Given the description of an element on the screen output the (x, y) to click on. 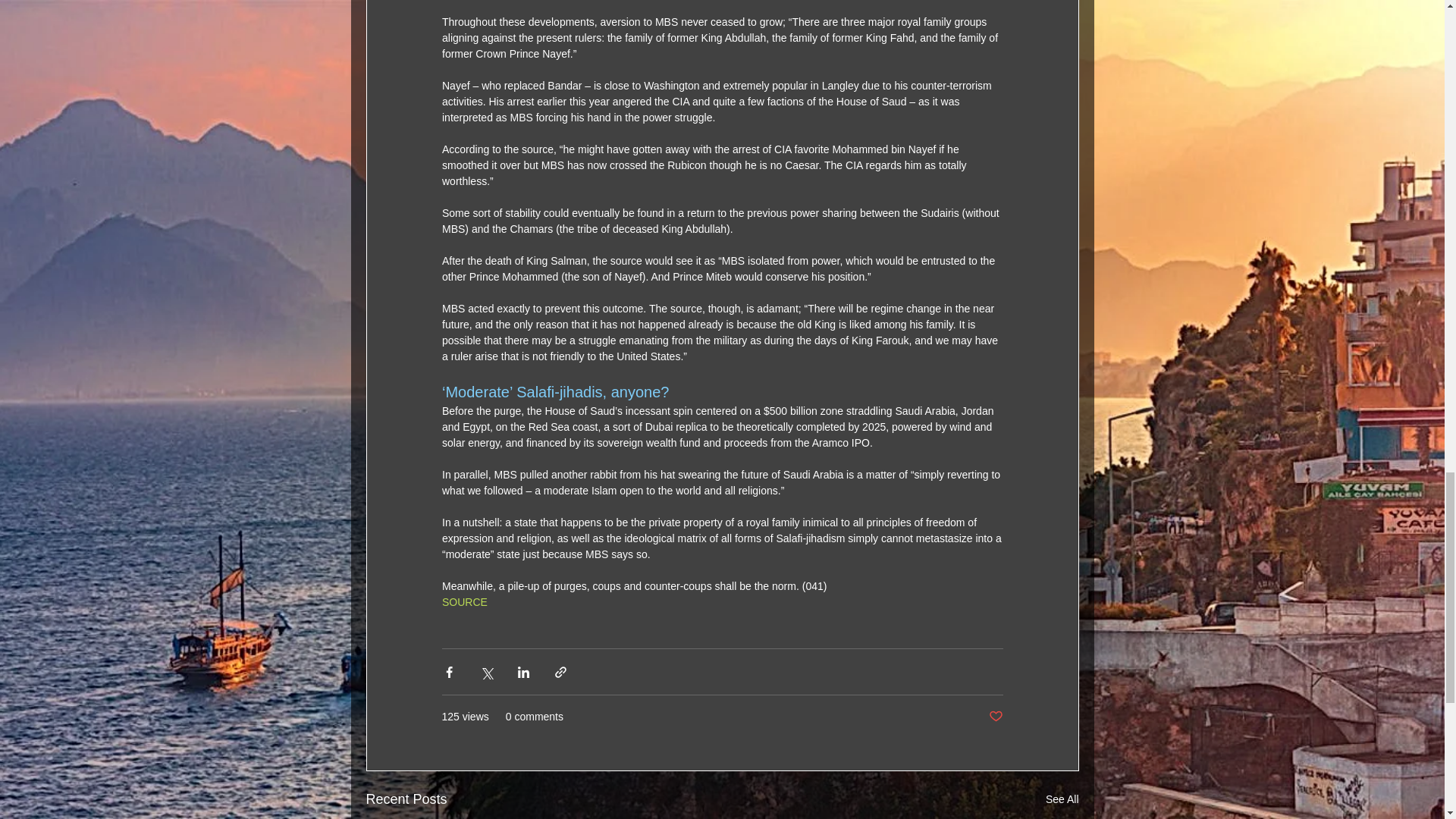
See All (1061, 799)
Post not marked as liked (995, 716)
SOURCE (463, 602)
